Given the description of an element on the screen output the (x, y) to click on. 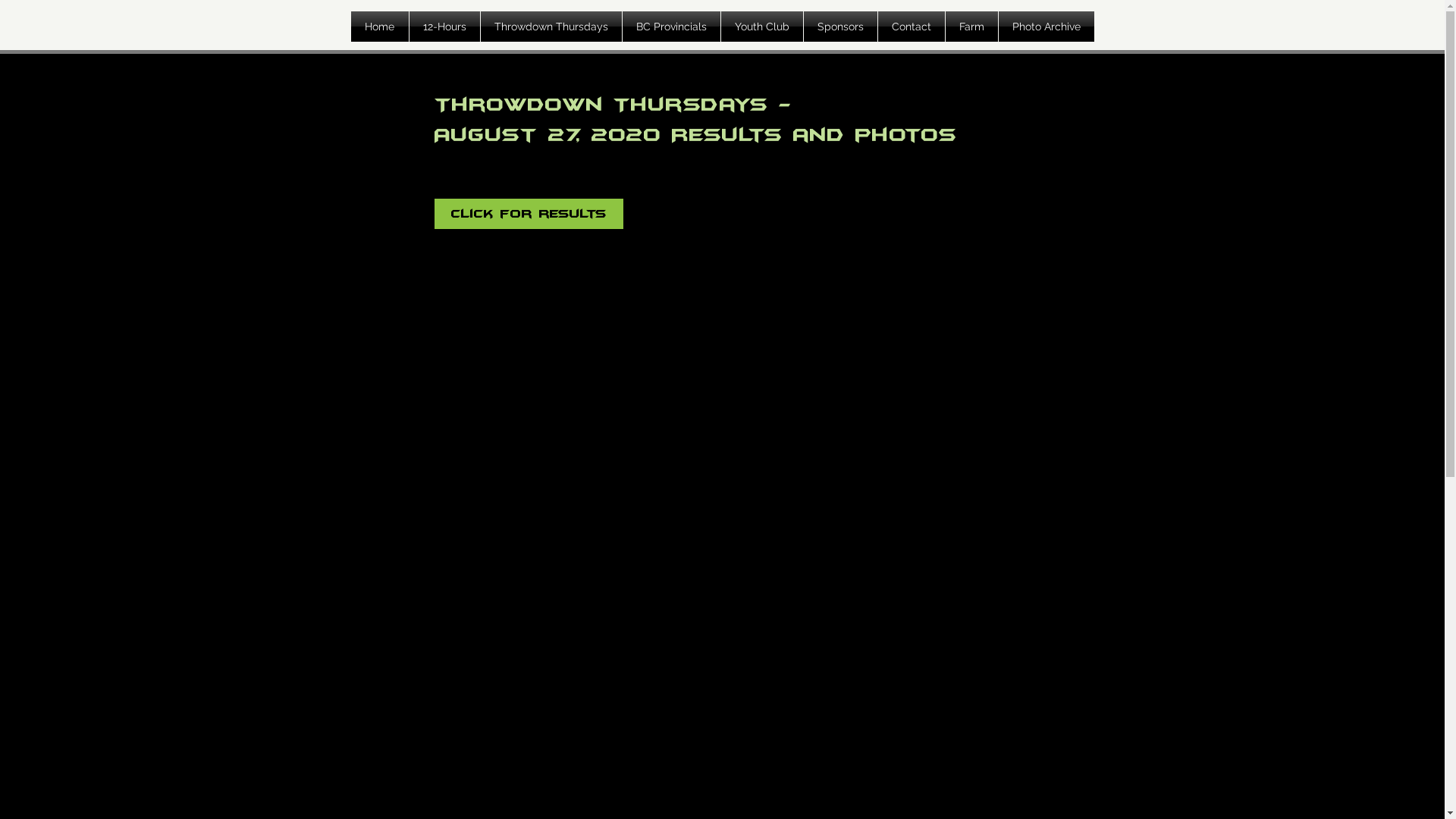
Contact Element type: text (911, 26)
Throwdown Thursdays Element type: text (550, 26)
Home Element type: text (378, 26)
Sponsors Element type: text (840, 26)
Photo Archive Element type: text (1045, 26)
12-Hours Element type: text (444, 26)
Click for results Element type: text (527, 213)
BC Provincials Element type: text (670, 26)
Farm Element type: text (970, 26)
Youth Club Element type: text (761, 26)
